Given the description of an element on the screen output the (x, y) to click on. 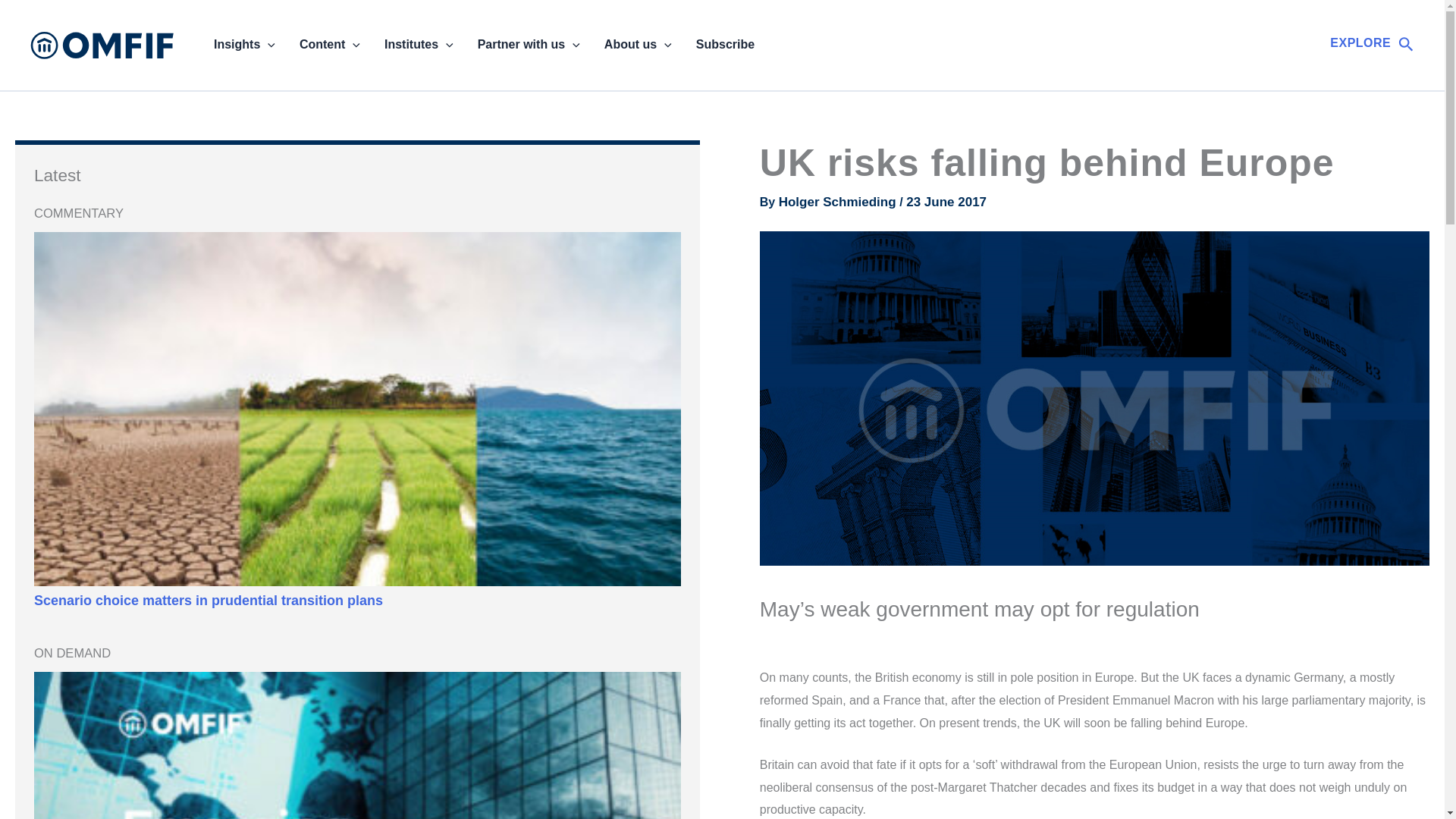
Partner with us (528, 44)
Insights (244, 44)
Content (329, 44)
View all posts by Holger Schmieding (838, 201)
Institutes (418, 44)
About us (638, 44)
